Given the description of an element on the screen output the (x, y) to click on. 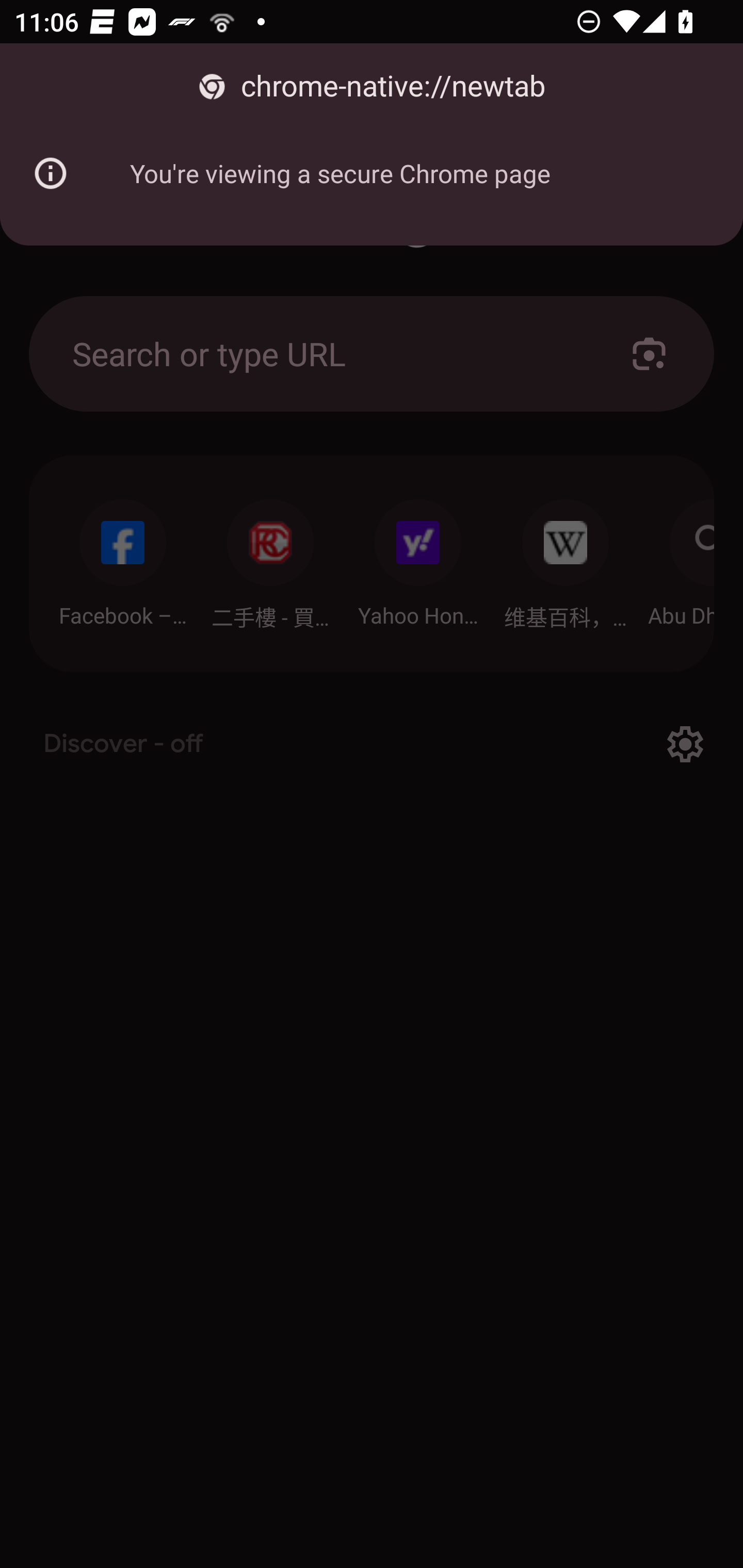
chrome-native://newtab (371, 86)
